Given the description of an element on the screen output the (x, y) to click on. 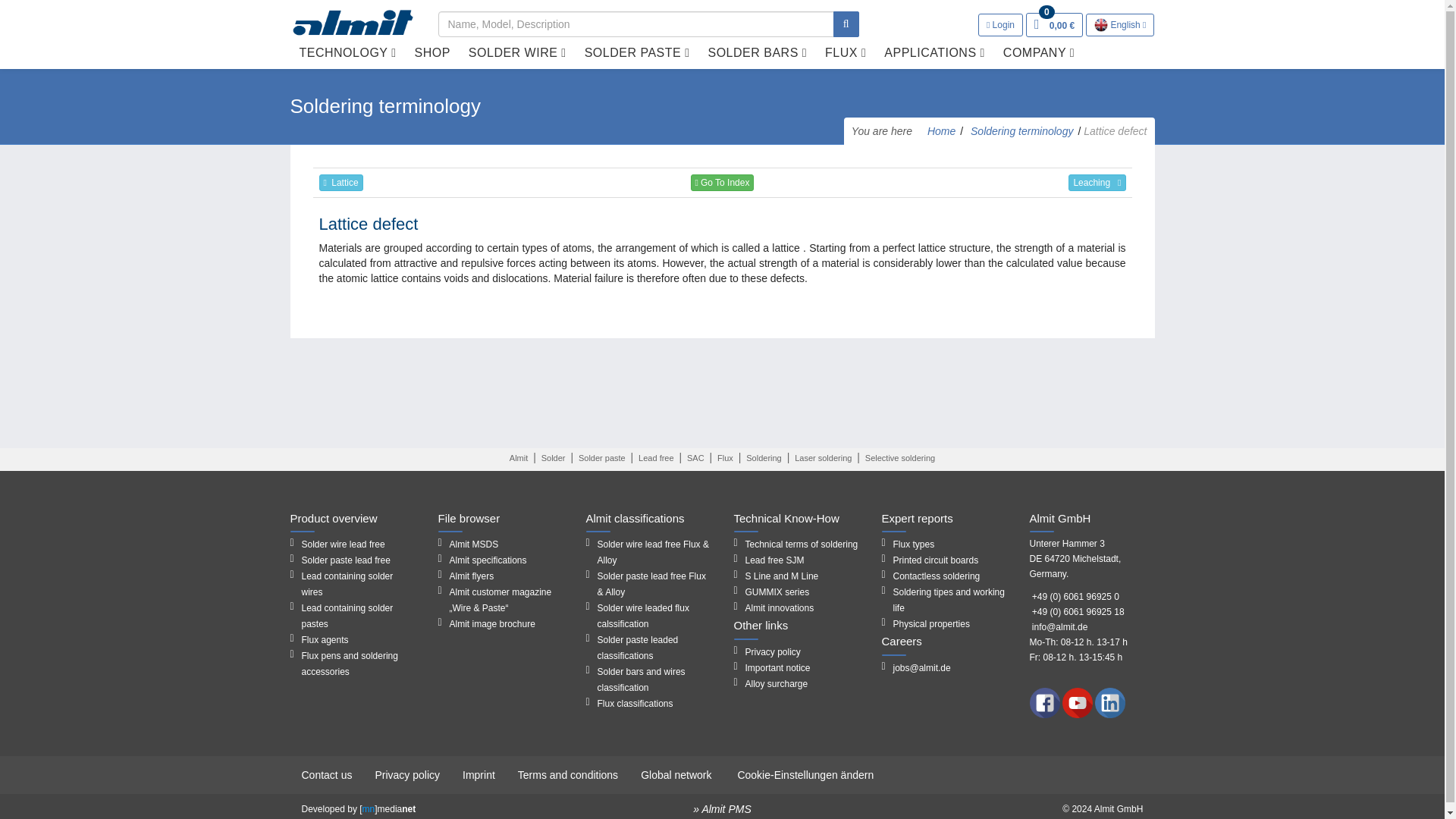
Youtube (1078, 701)
TECHNOLOGY  (346, 52)
Linkedin (1109, 701)
 English  (1120, 24)
English (1101, 24)
 Login (1000, 24)
facebook (1045, 701)
SOLDER WIRE  (517, 52)
SHOP (433, 52)
